Given the description of an element on the screen output the (x, y) to click on. 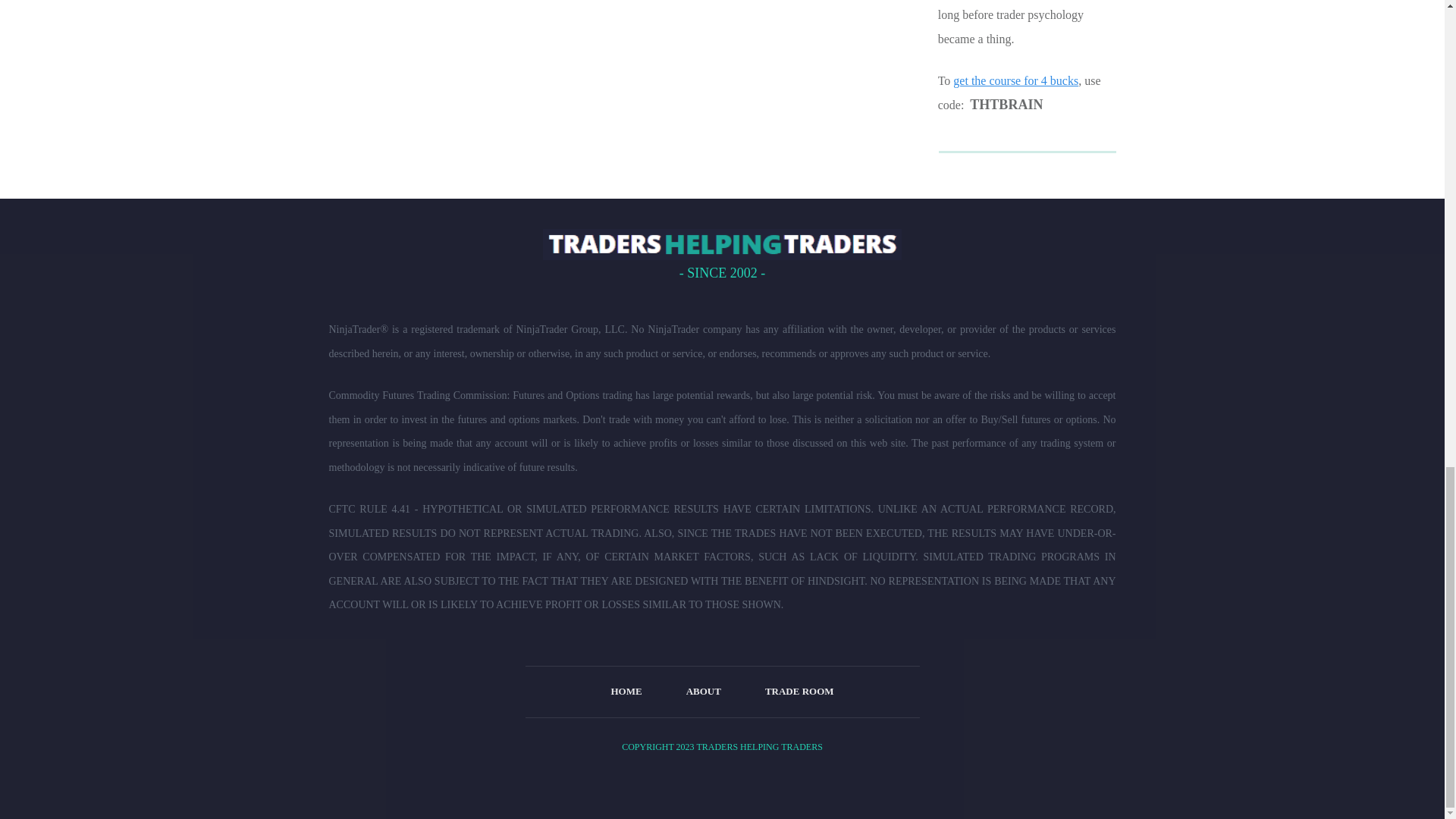
get the course for 4 bucks (1015, 79)
HOME (626, 691)
ABOUT (702, 691)
TRADE ROOM (799, 691)
